Given the description of an element on the screen output the (x, y) to click on. 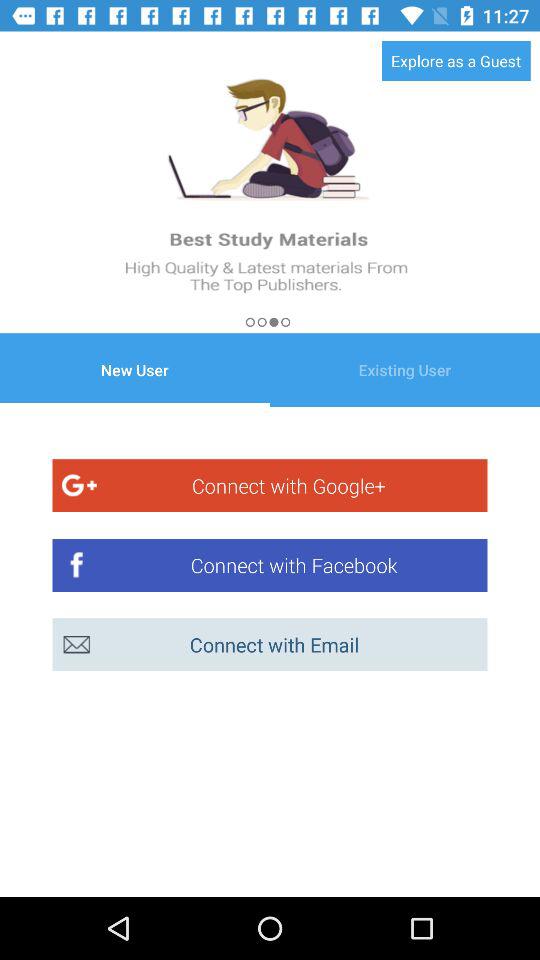
open the explore as a at the top right corner (455, 60)
